Given the description of an element on the screen output the (x, y) to click on. 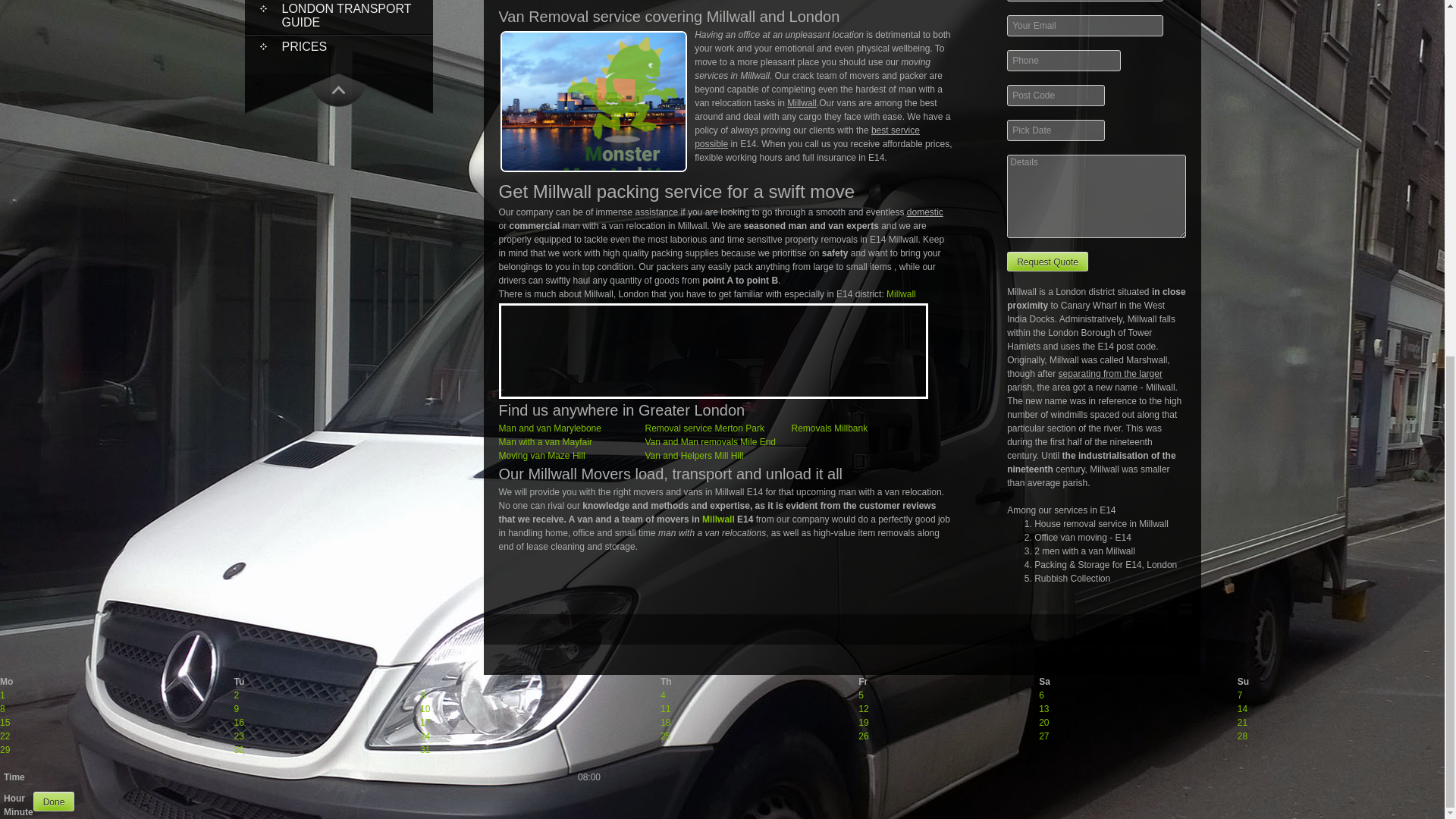
Thursday (666, 681)
Man with a van Mayfair (545, 441)
Tuesday (239, 681)
Removal service Merton Park, SW19 (703, 428)
Van and Man removals Mile End (710, 441)
Request Quote (1047, 261)
Van and Helpers Mill Hill (693, 455)
Man and van Marylebone, W1 (550, 428)
Moving van Maze Hill, SE10 (542, 455)
Request Quote (1047, 261)
Saturday (1044, 681)
Removals Millbank (829, 428)
Removals Millbank, SW1 (829, 428)
Man and van Marylebone (550, 428)
Wednesday (426, 681)
